Given the description of an element on the screen output the (x, y) to click on. 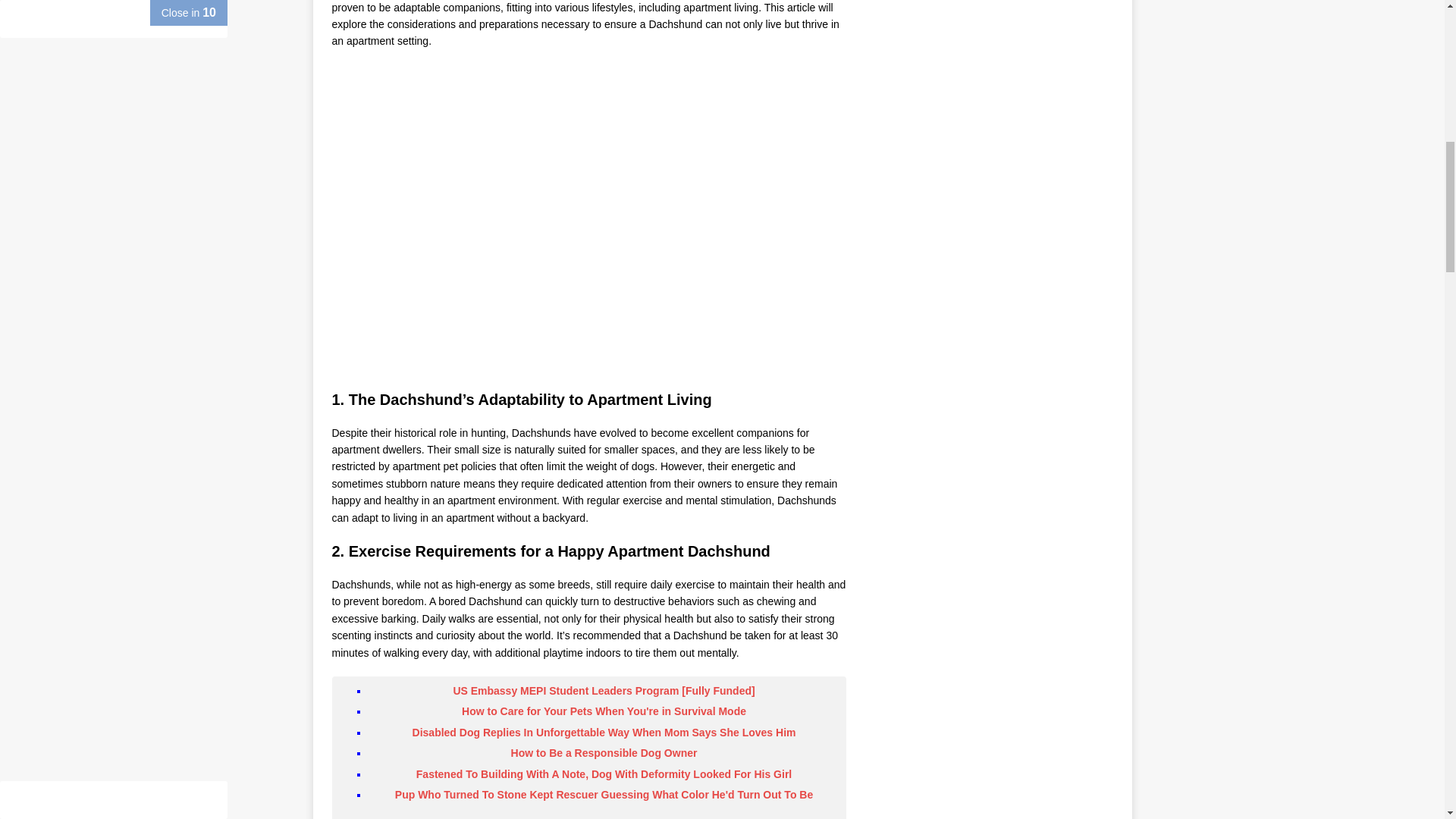
How to Care for Your Pets When You're in Survival Mode (603, 711)
How to Be a Responsible Dog Owner (604, 752)
